Given the description of an element on the screen output the (x, y) to click on. 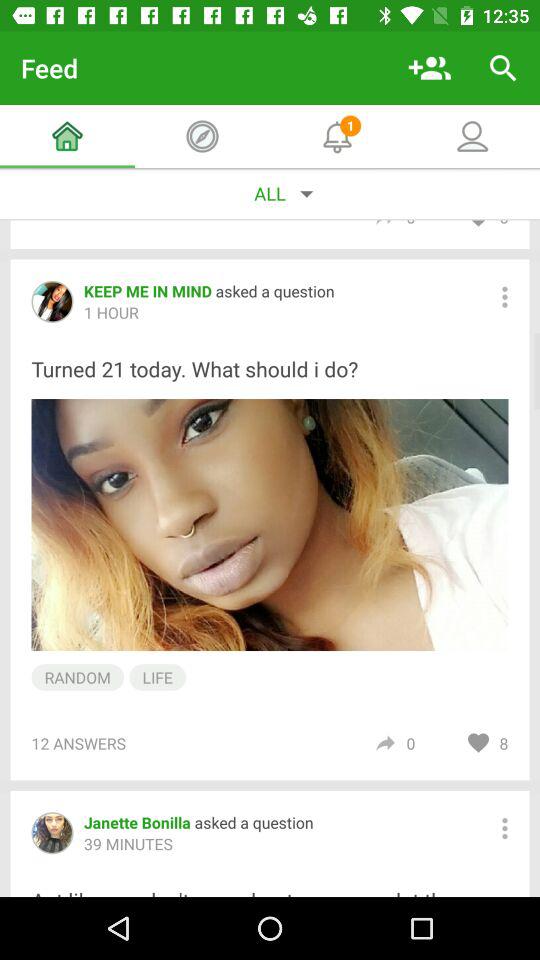
show post options (504, 296)
